Given the description of an element on the screen output the (x, y) to click on. 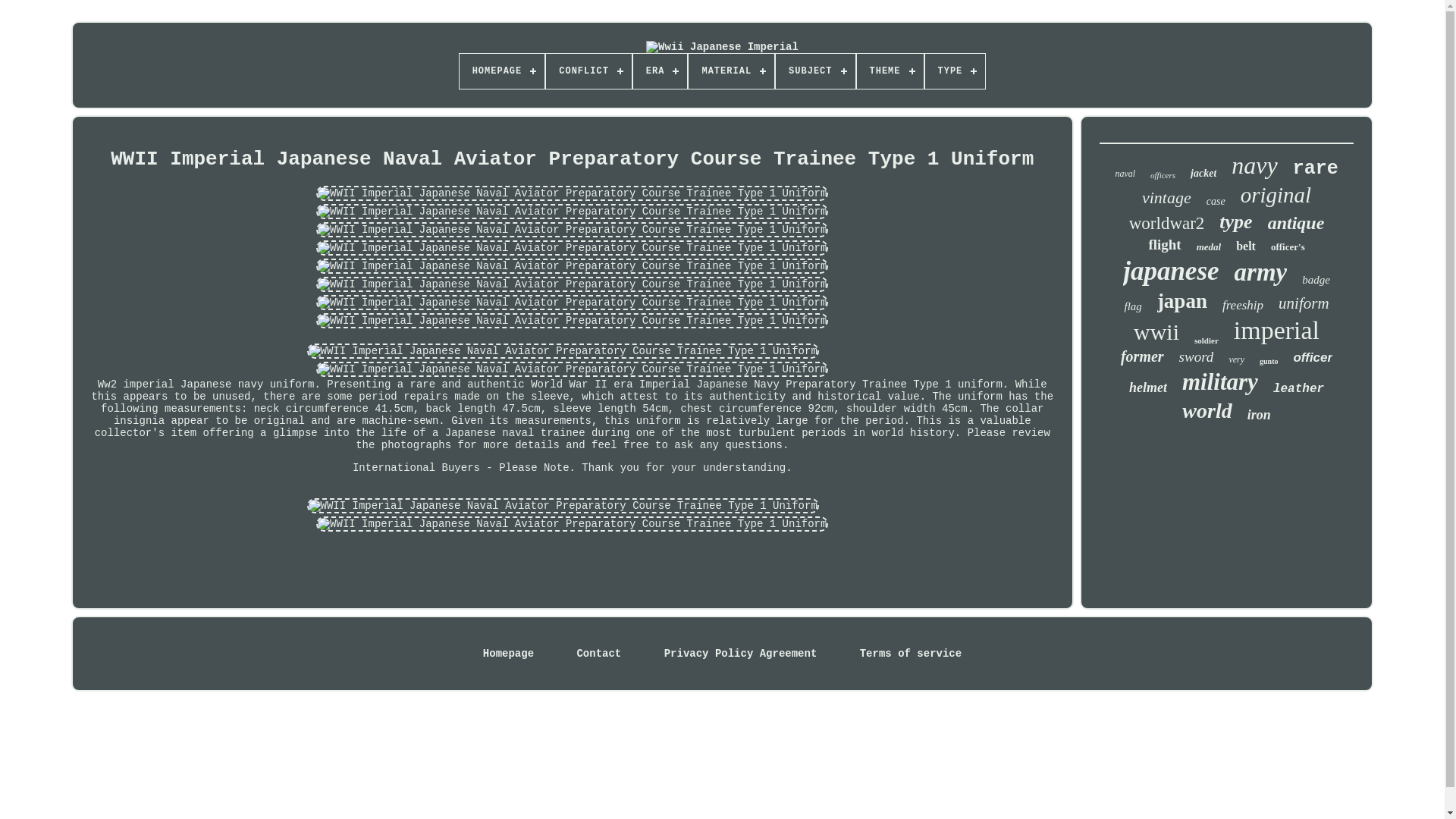
TYPE (954, 71)
CONFLICT (588, 71)
SUBJECT (815, 71)
HOMEPAGE (502, 71)
THEME (890, 71)
